Given the description of an element on the screen output the (x, y) to click on. 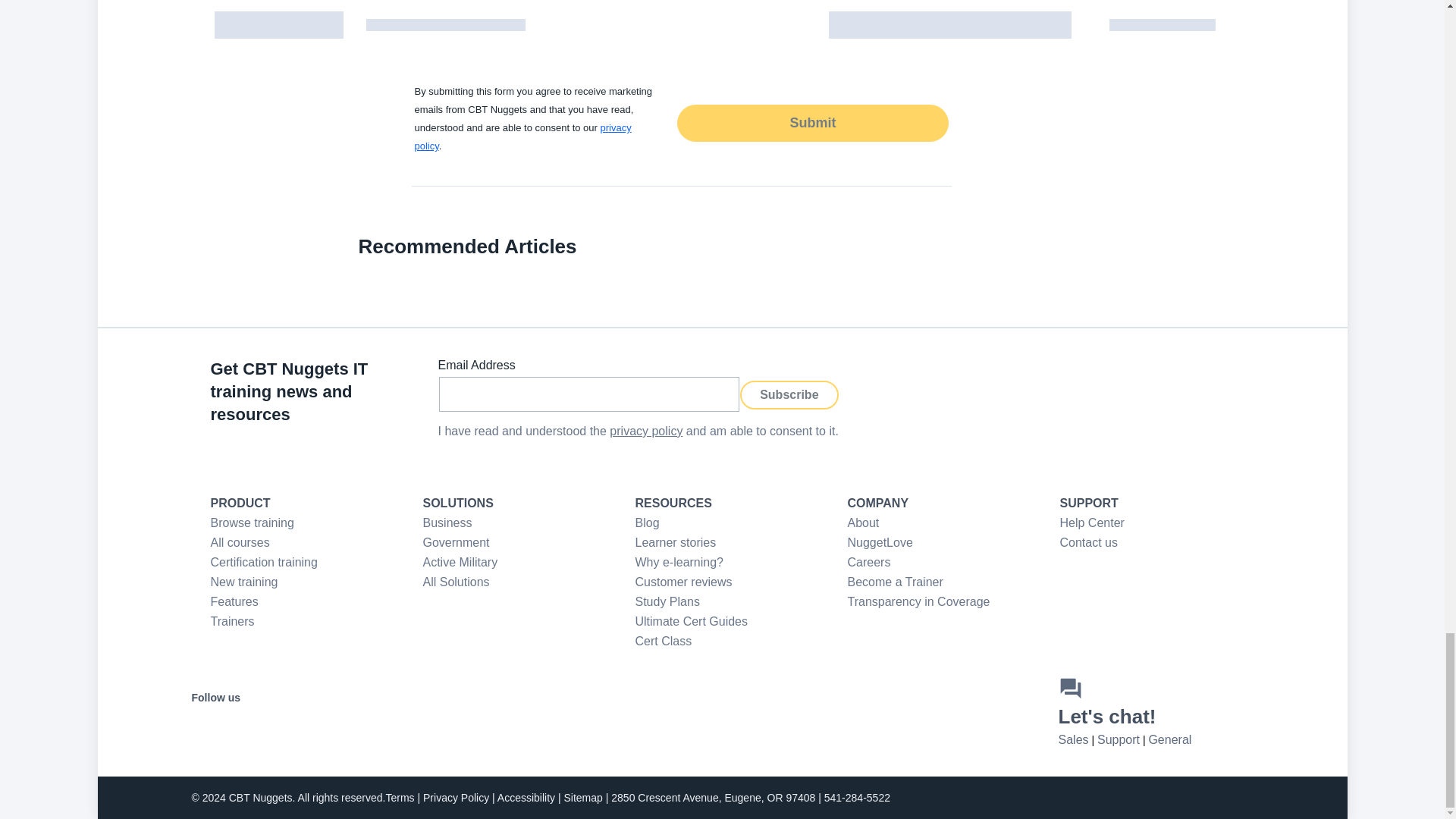
Government (456, 542)
privacy policy (521, 136)
Trainers (232, 621)
privacy policy (646, 431)
Blog (646, 522)
All courses (240, 542)
Submit (812, 122)
Subscribe (788, 394)
Browse training (252, 522)
Certification training (264, 562)
Business (447, 522)
New training (244, 581)
Active Military (460, 562)
All Solutions (456, 581)
Features (235, 601)
